Given the description of an element on the screen output the (x, y) to click on. 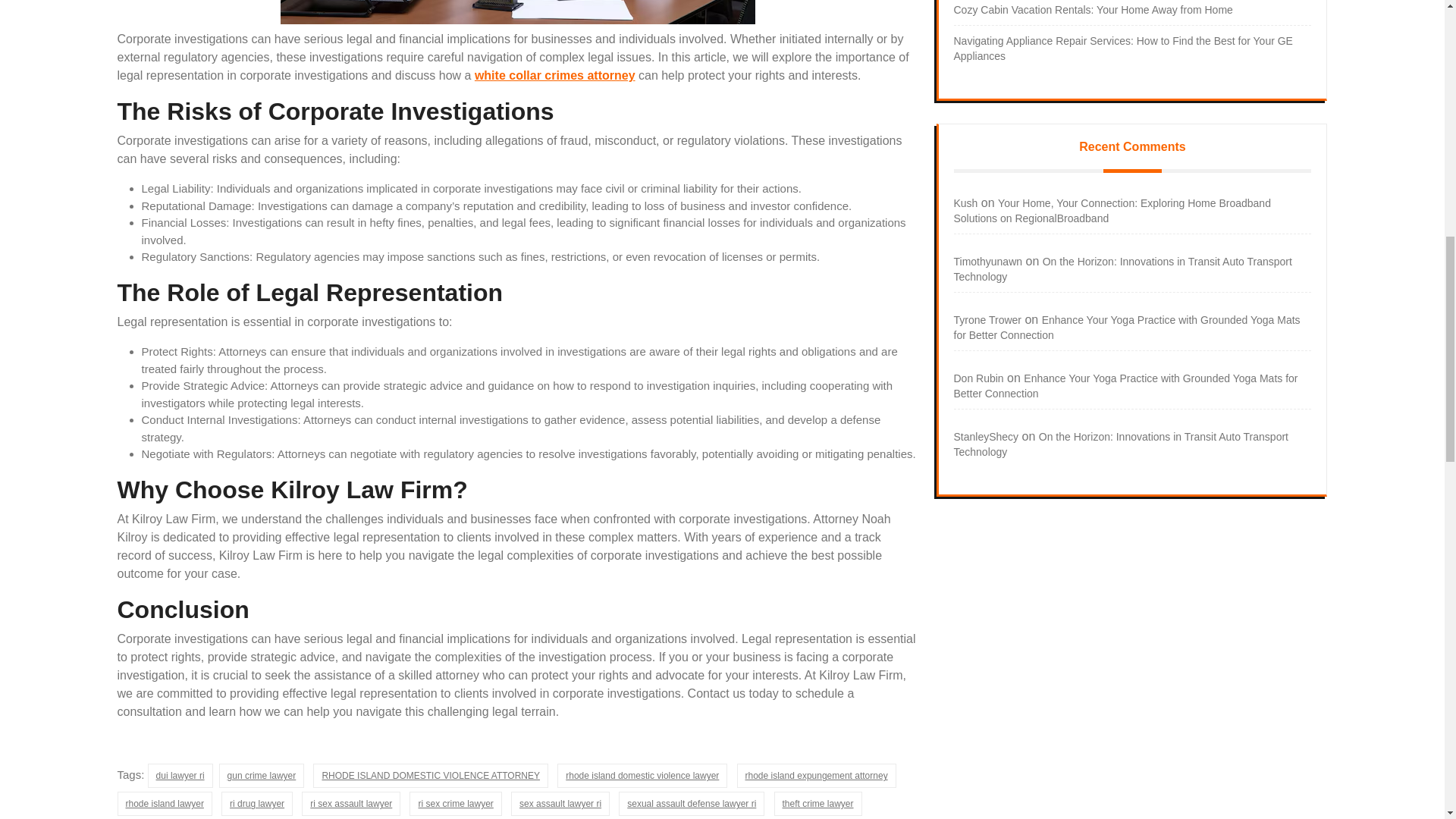
Cozy Cabin Vacation Rentals: Your Home Away from Home (1093, 9)
Timothyunawn (988, 261)
Kush (965, 203)
ri sex assault lawyer (350, 803)
sexual assault defense lawyer ri (691, 803)
rhode island expungement attorney (816, 775)
RHODE ISLAND DOMESTIC VIOLENCE ATTORNEY (430, 775)
gun crime lawyer (261, 775)
